Given the description of an element on the screen output the (x, y) to click on. 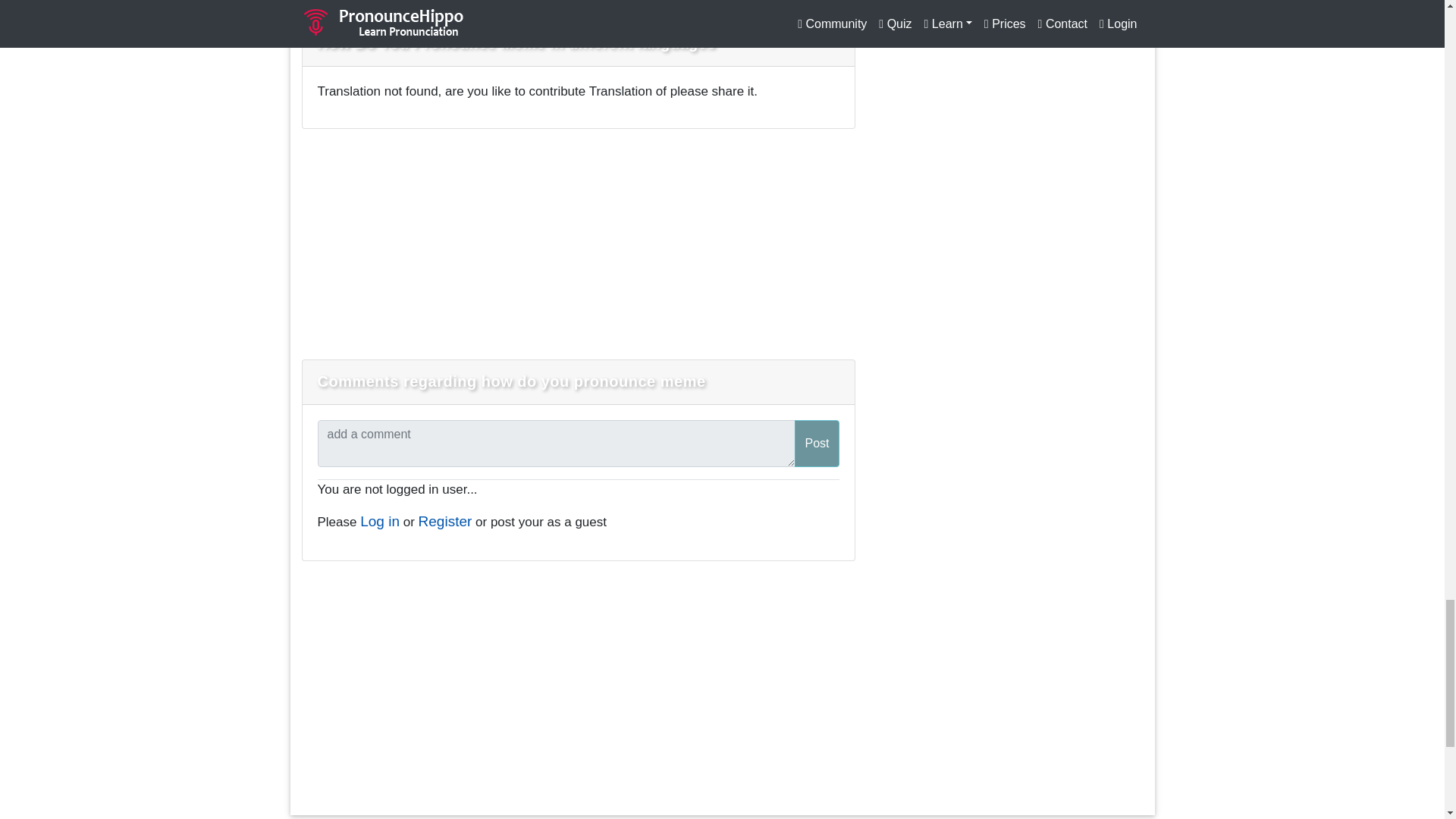
Register (445, 521)
Log in (378, 521)
Post (816, 443)
